Given the description of an element on the screen output the (x, y) to click on. 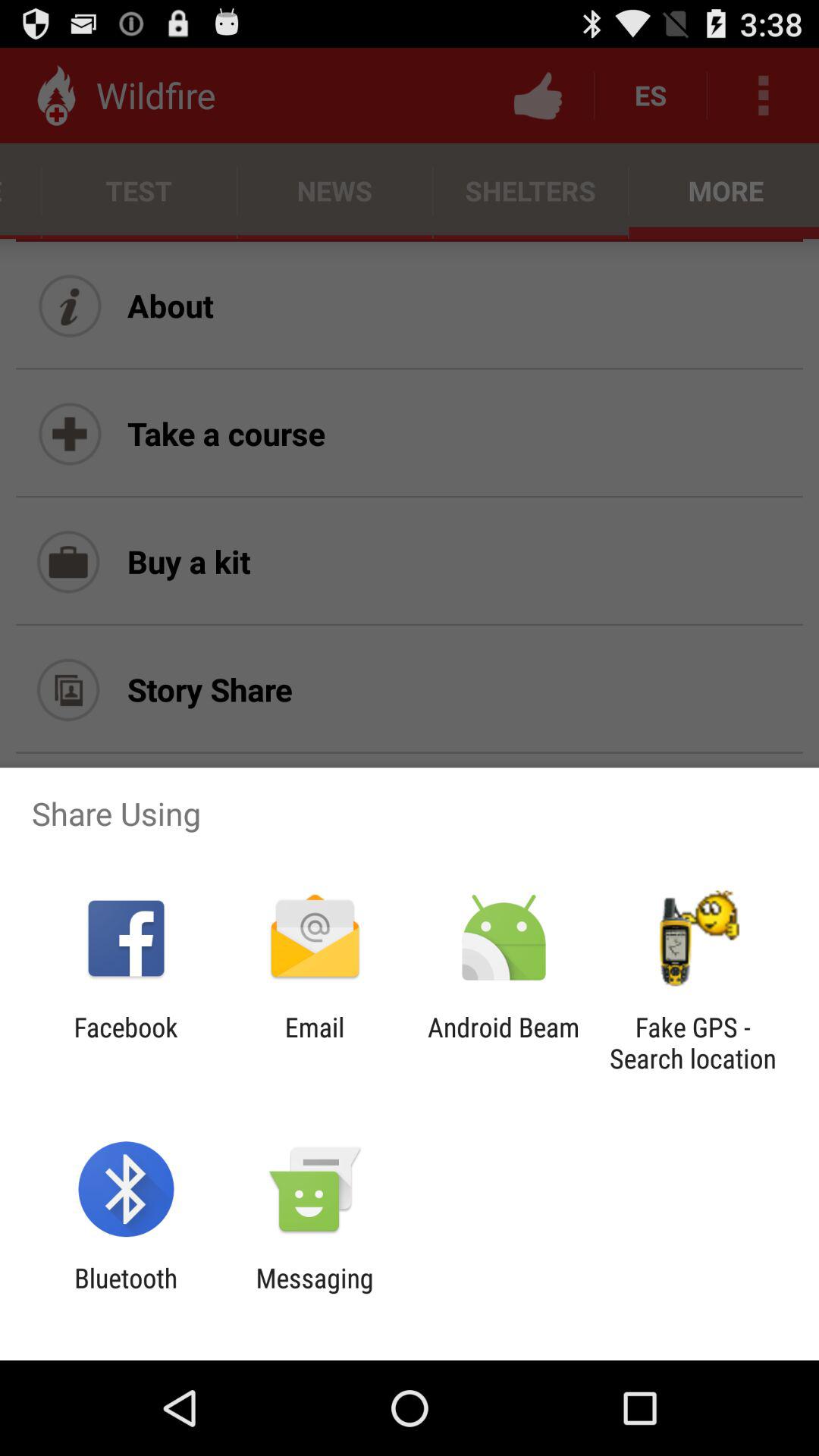
turn off messaging item (314, 1293)
